Given the description of an element on the screen output the (x, y) to click on. 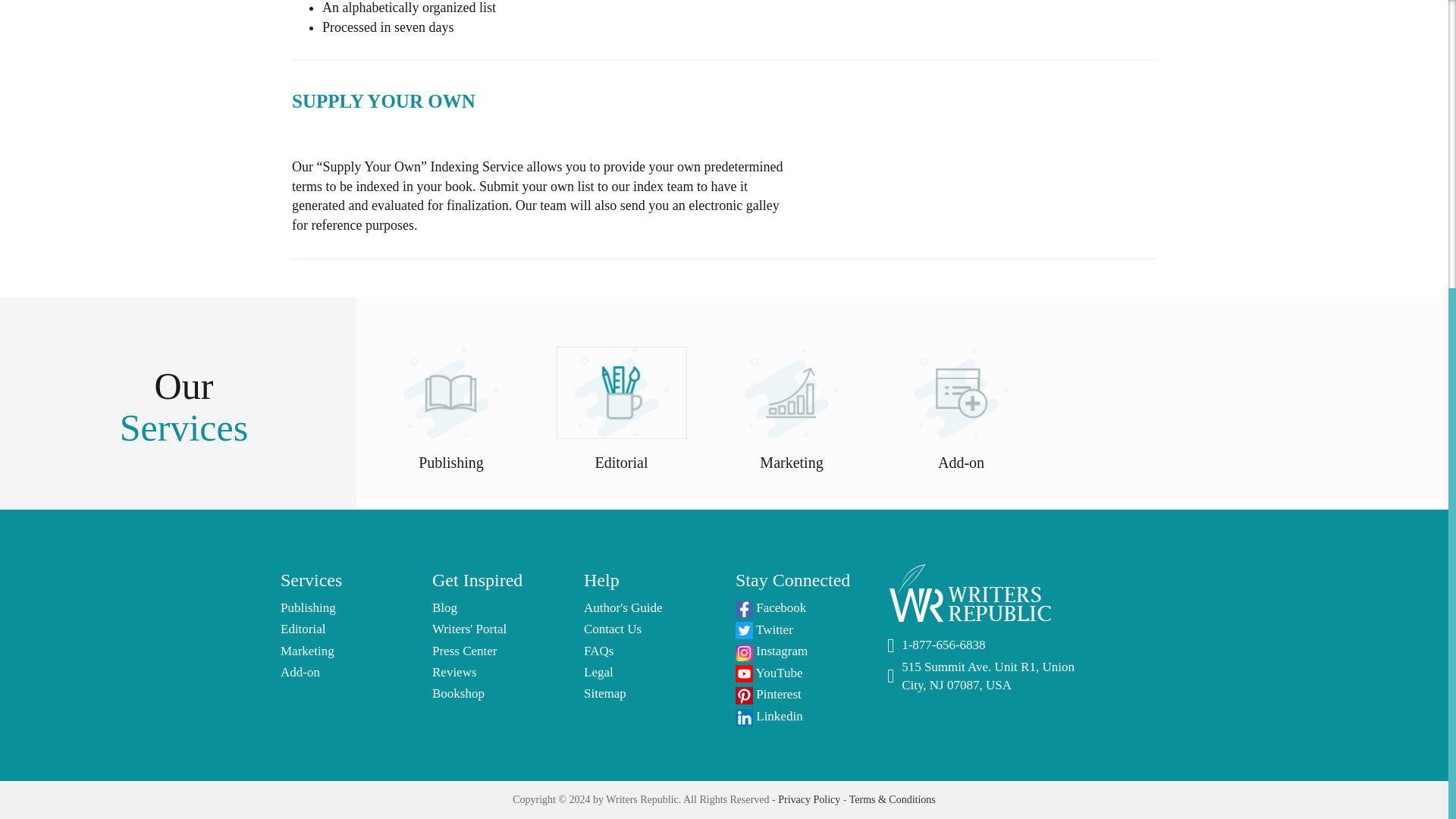
Legal (597, 672)
Marketing (307, 650)
Editorial (302, 628)
Bookshop (458, 693)
Instagram (771, 650)
Writers Portal (469, 628)
Twitter (764, 629)
Facebook (770, 607)
FAQs (597, 650)
Blog (444, 607)
Sitemap (604, 693)
Publishing (308, 607)
Add-on (300, 672)
Press Center (464, 650)
Writers Republic Reviews (454, 672)
